Given the description of an element on the screen output the (x, y) to click on. 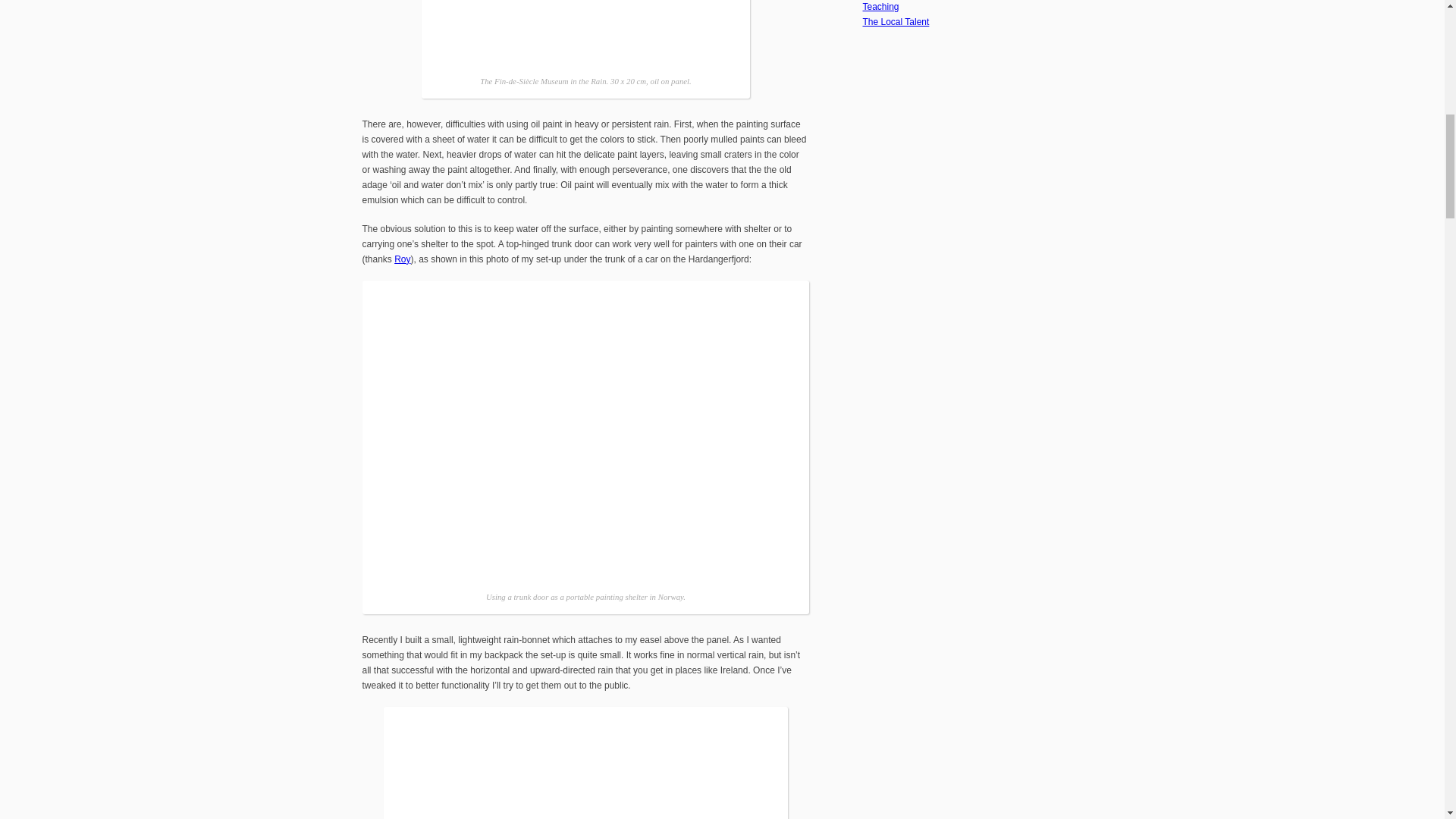
Roy (402, 258)
